Given the description of an element on the screen output the (x, y) to click on. 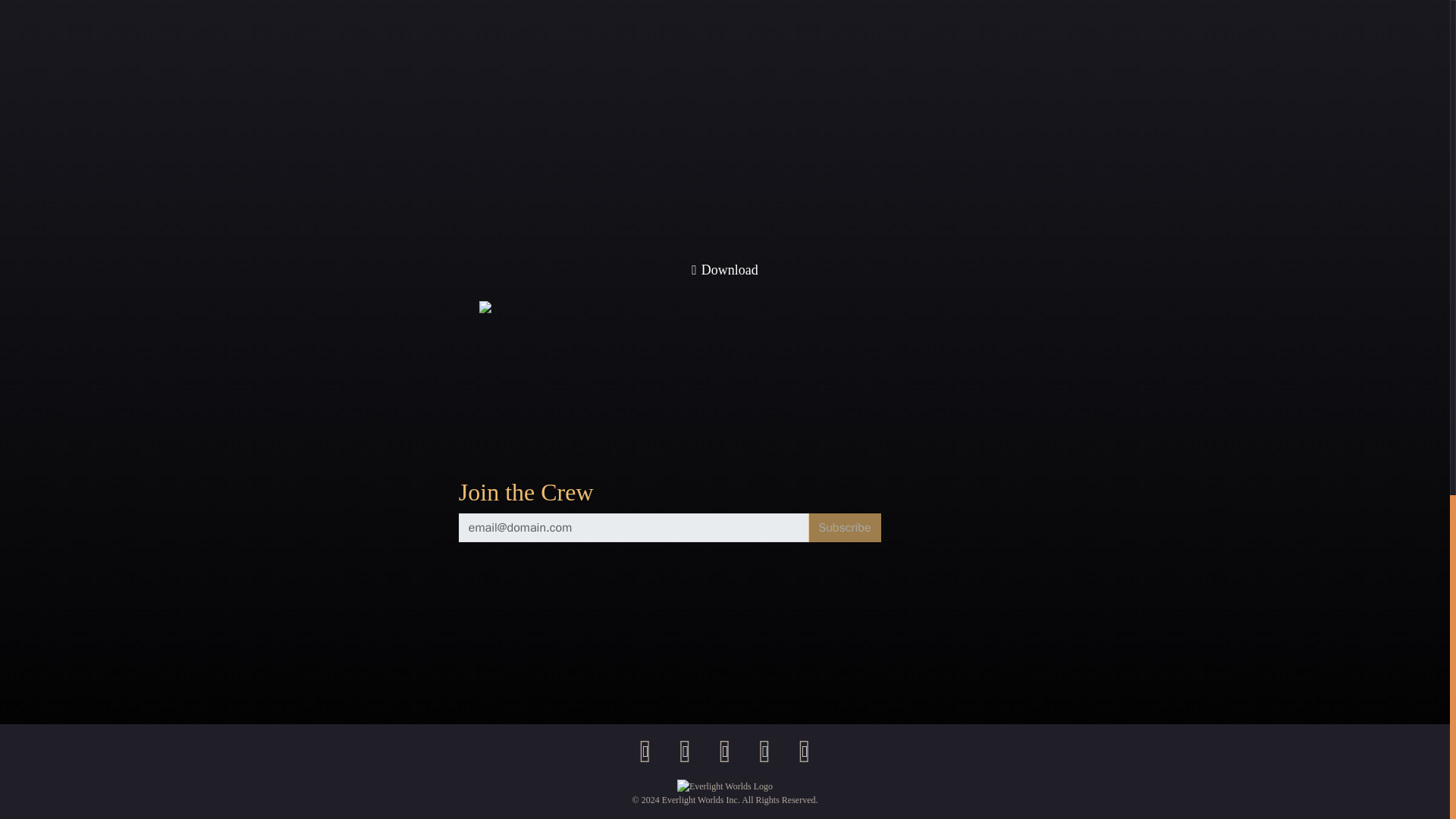
Download (723, 269)
Subscribe (844, 527)
